Given the description of an element on the screen output the (x, y) to click on. 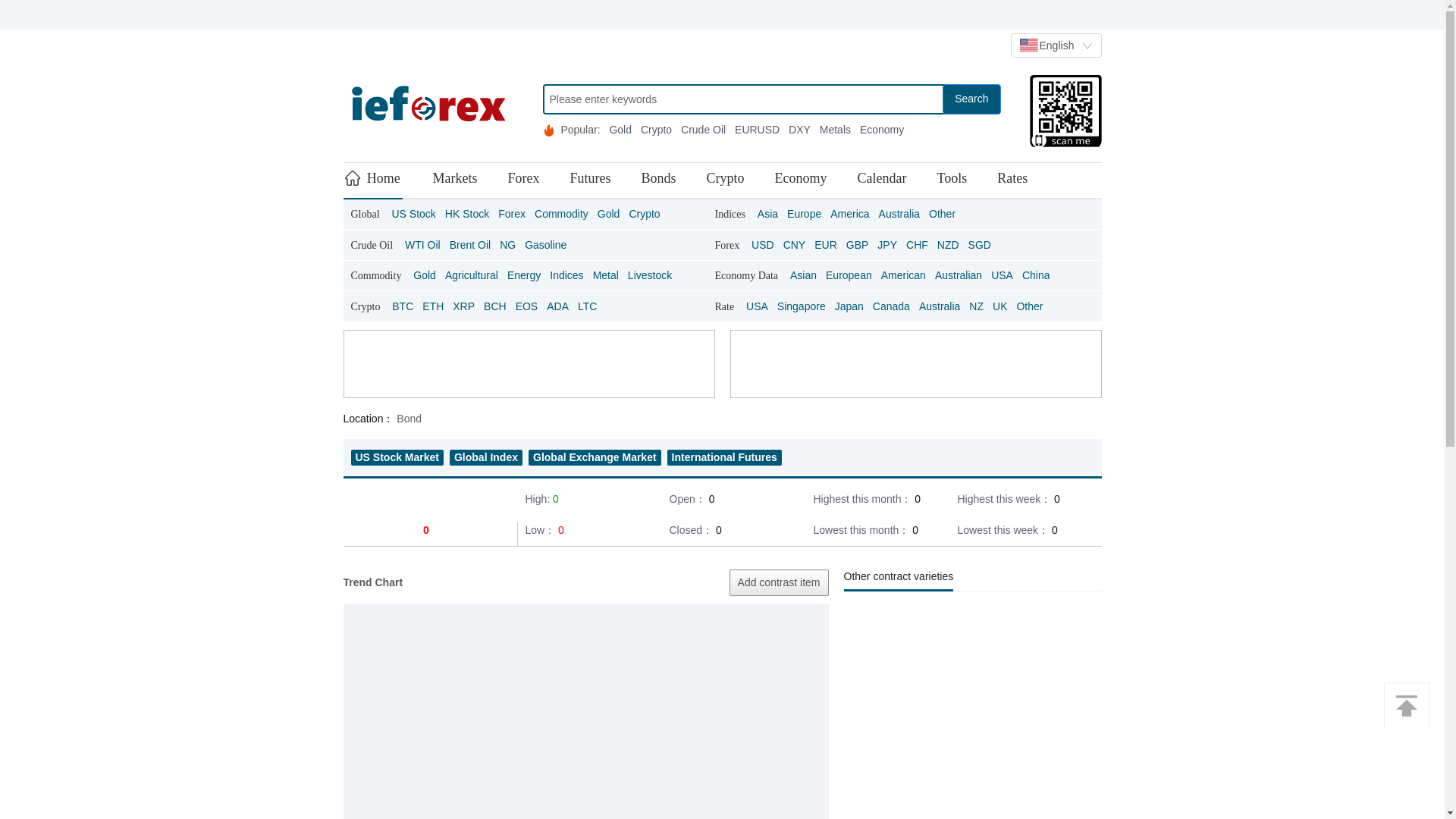
Crypto (643, 213)
NZD (948, 245)
Crude Oil (703, 130)
Global (364, 213)
America (849, 213)
EURUSD (757, 130)
Forex (726, 245)
Brent Oil (469, 245)
DXY (799, 130)
Gasoline (545, 245)
